Given the description of an element on the screen output the (x, y) to click on. 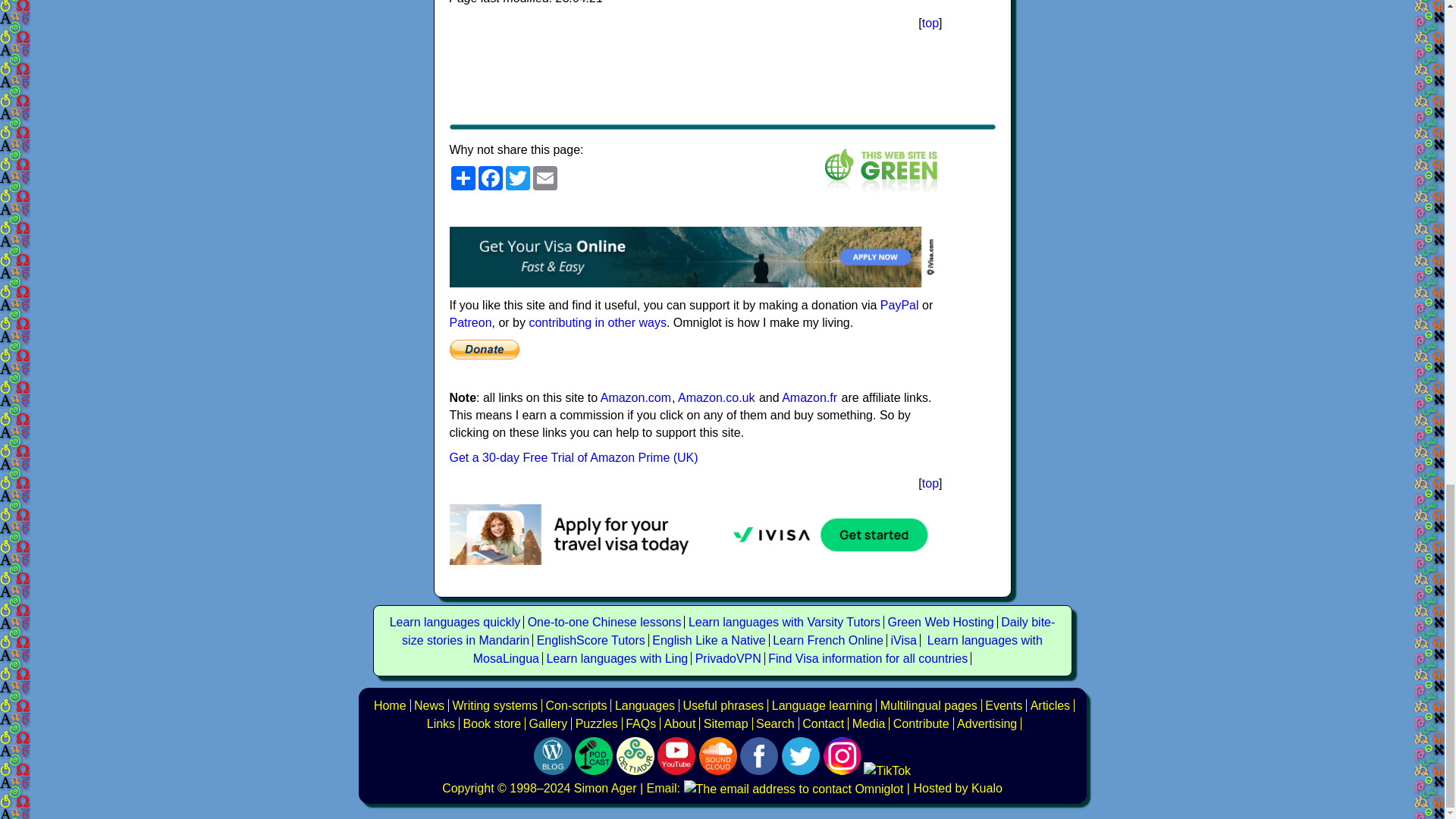
Amazon.com (635, 397)
PayPal - The safer, easier way to pay online! (483, 348)
top (930, 22)
Frequently Asked Questions (641, 723)
Writing systems invented by visitors to Omniglot (576, 705)
Twitter (517, 178)
Advice on learning languages (821, 705)
Share (462, 178)
Facebook (489, 178)
